Given the description of an element on the screen output the (x, y) to click on. 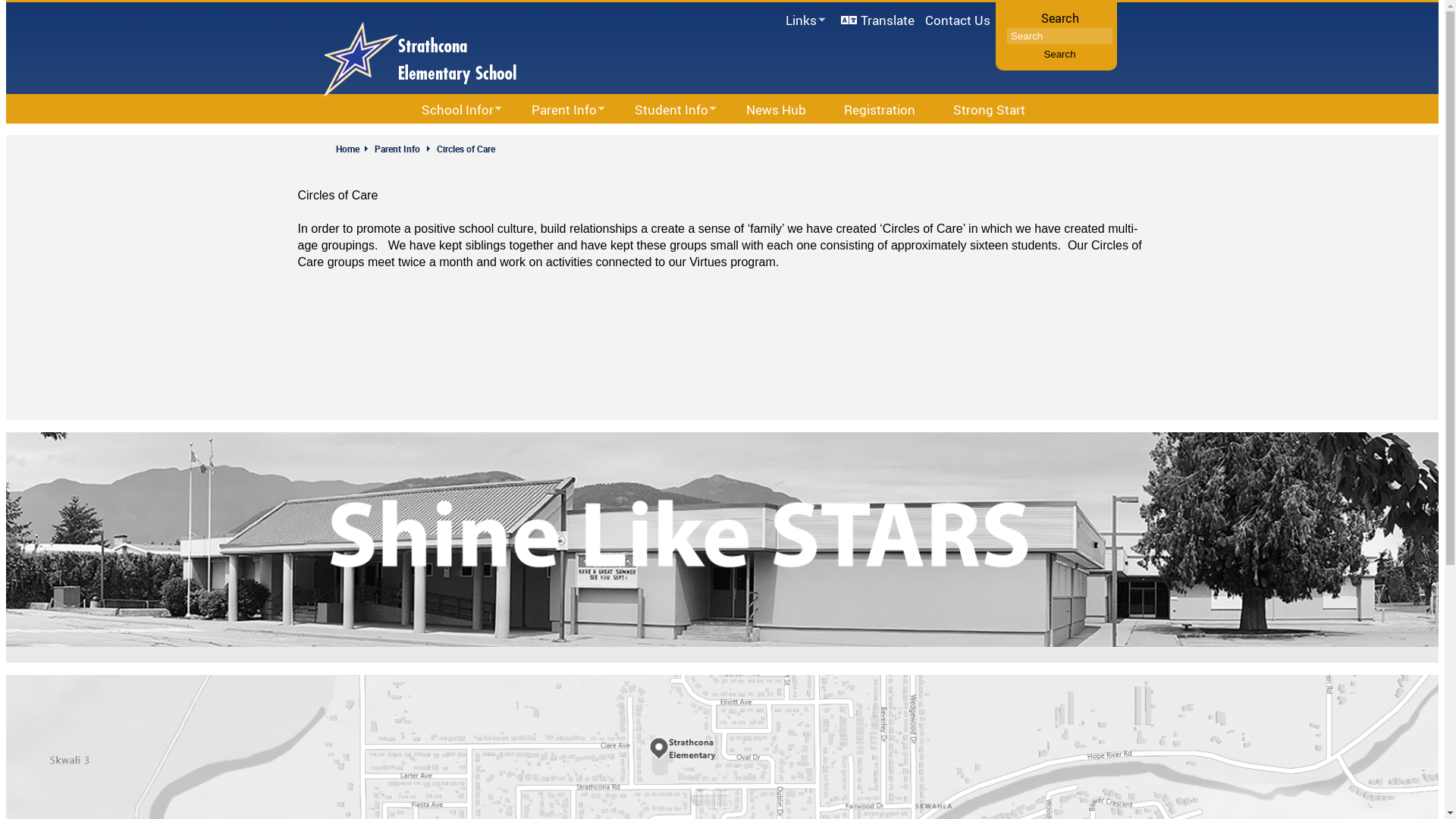
Skip to main content Element type: text (6, 0)
Acceptable User Agreement Element type: text (625, 138)
Translate Element type: text (877, 19)
Contact Us Element type: text (956, 19)
Home Element type: text (352, 148)
Enter the terms you wish to search for. Element type: hover (1059, 35)
Student Information Element type: text (697, 138)
Search Element type: text (1058, 53)
Moodle Element type: text (790, 138)
Circles of Care Element type: text (465, 148)
Calendar Element type: text (508, 138)
Registration Element type: text (877, 108)
Moodle Element type: text (784, 40)
Strong Start Element type: text (987, 108)
Parent Info Element type: text (397, 148)
News Hub Element type: text (775, 108)
